Given the description of an element on the screen output the (x, y) to click on. 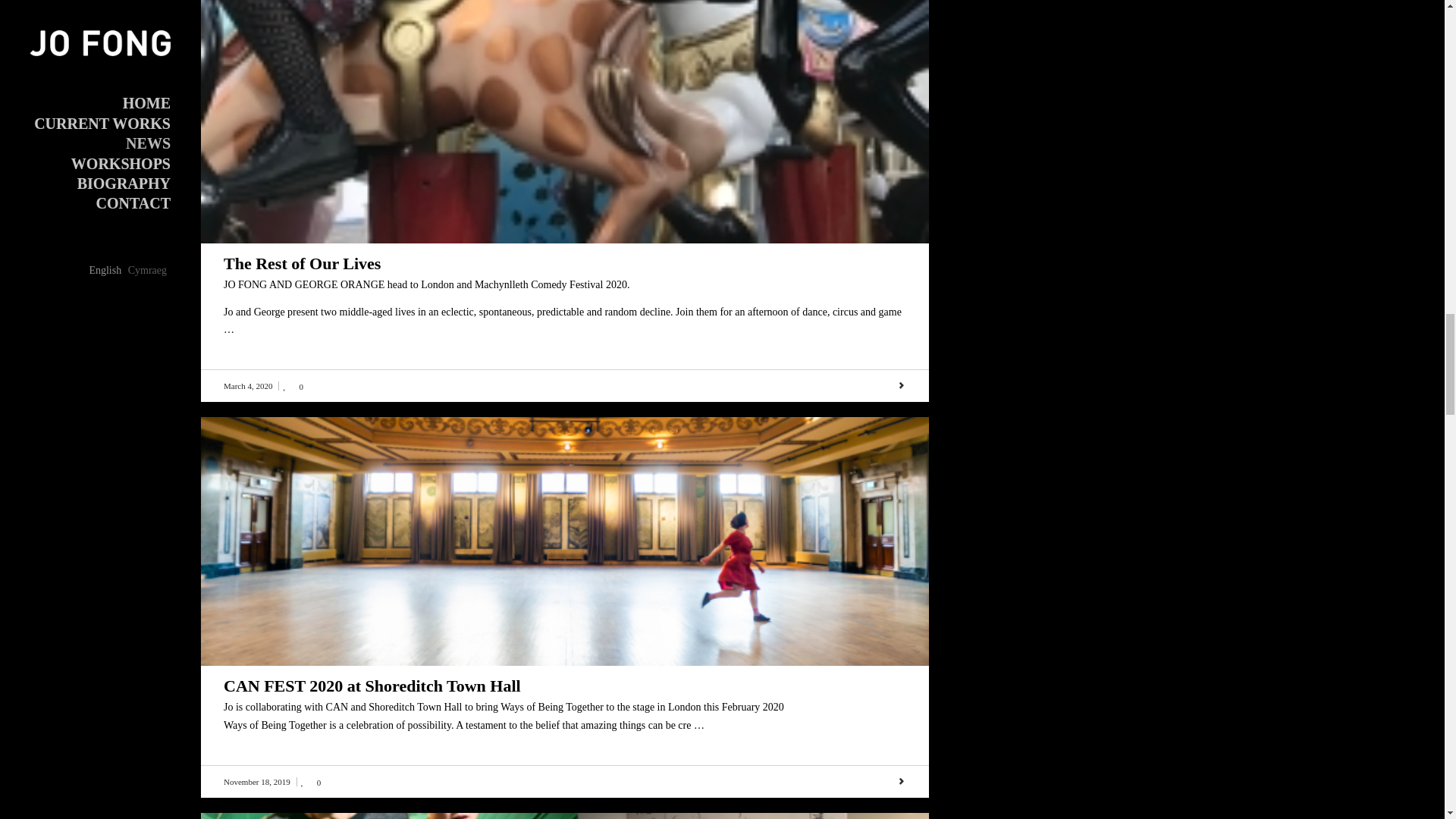
The Rest of Our Lives (302, 262)
0 (292, 385)
CAN FEST 2020 at Shoreditch Town Hall (372, 685)
0 (311, 781)
